Given the description of an element on the screen output the (x, y) to click on. 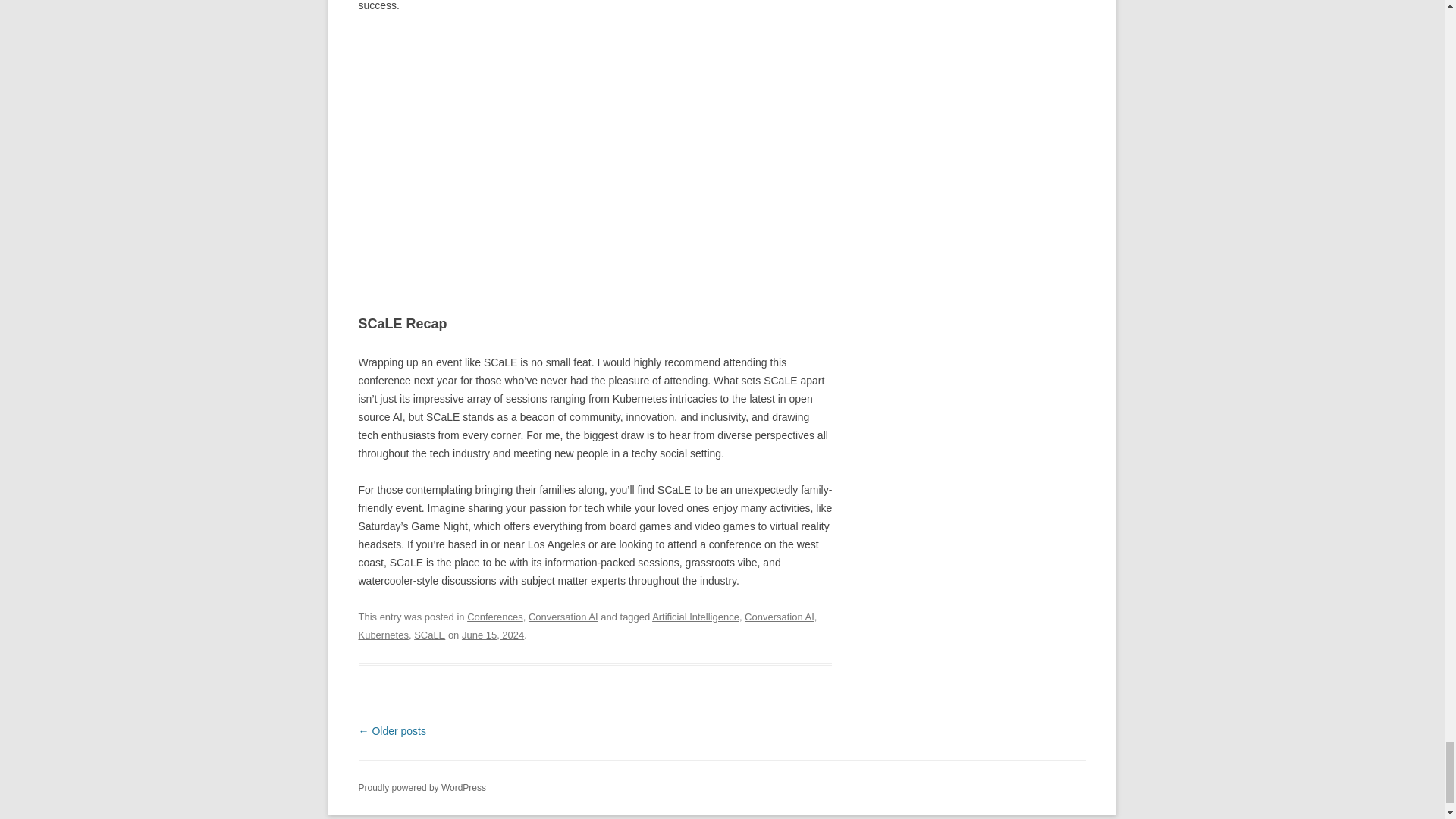
2:42 pm (492, 634)
Semantic Personal Publishing Platform (422, 787)
YouTube video player (570, 151)
